Given the description of an element on the screen output the (x, y) to click on. 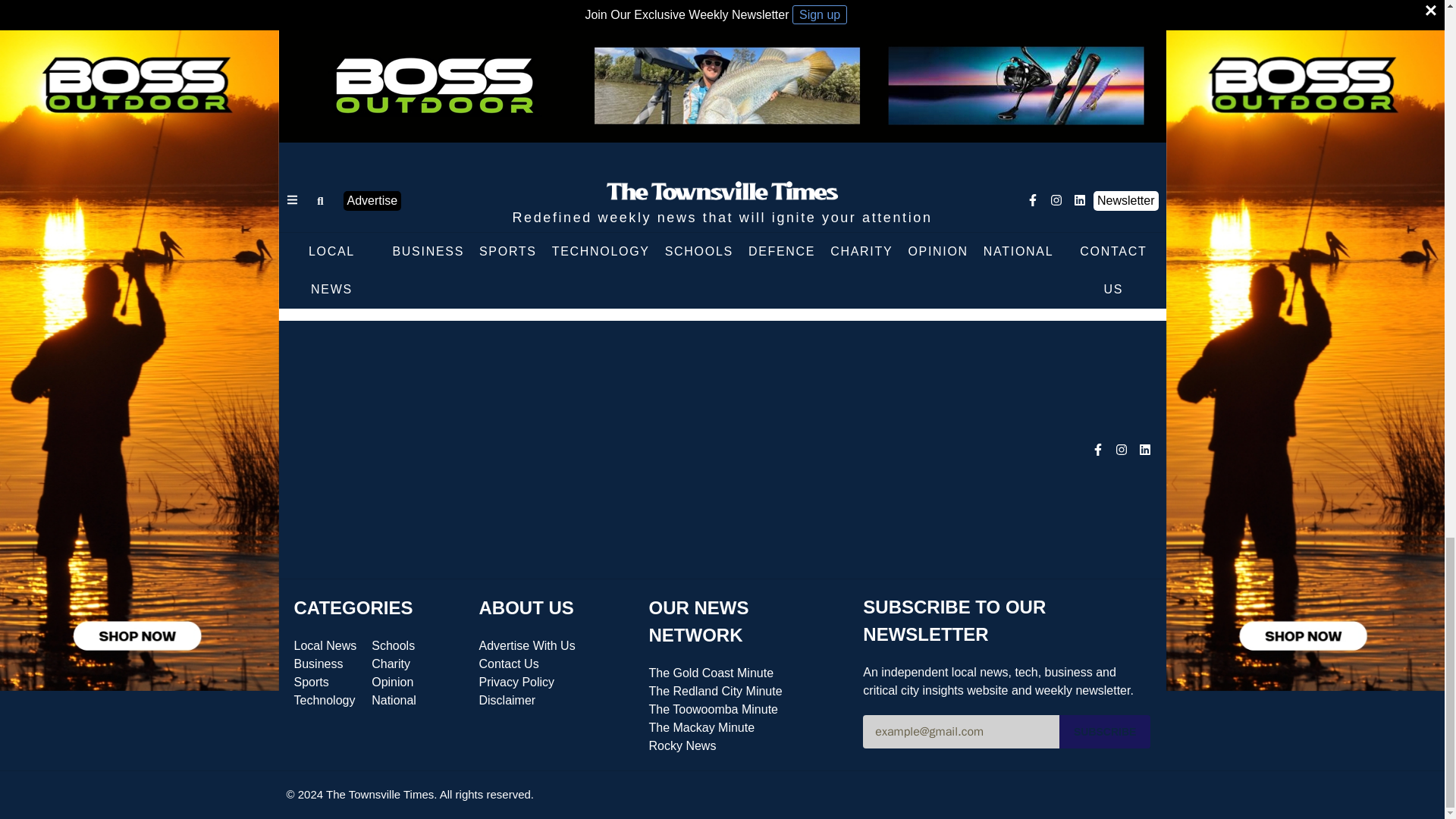
Reddit (782, 278)
Whatsapp (751, 278)
Linkedin (721, 278)
Twitter (660, 278)
Pinterest (691, 278)
Email (812, 278)
Facebook (630, 278)
